Given the description of an element on the screen output the (x, y) to click on. 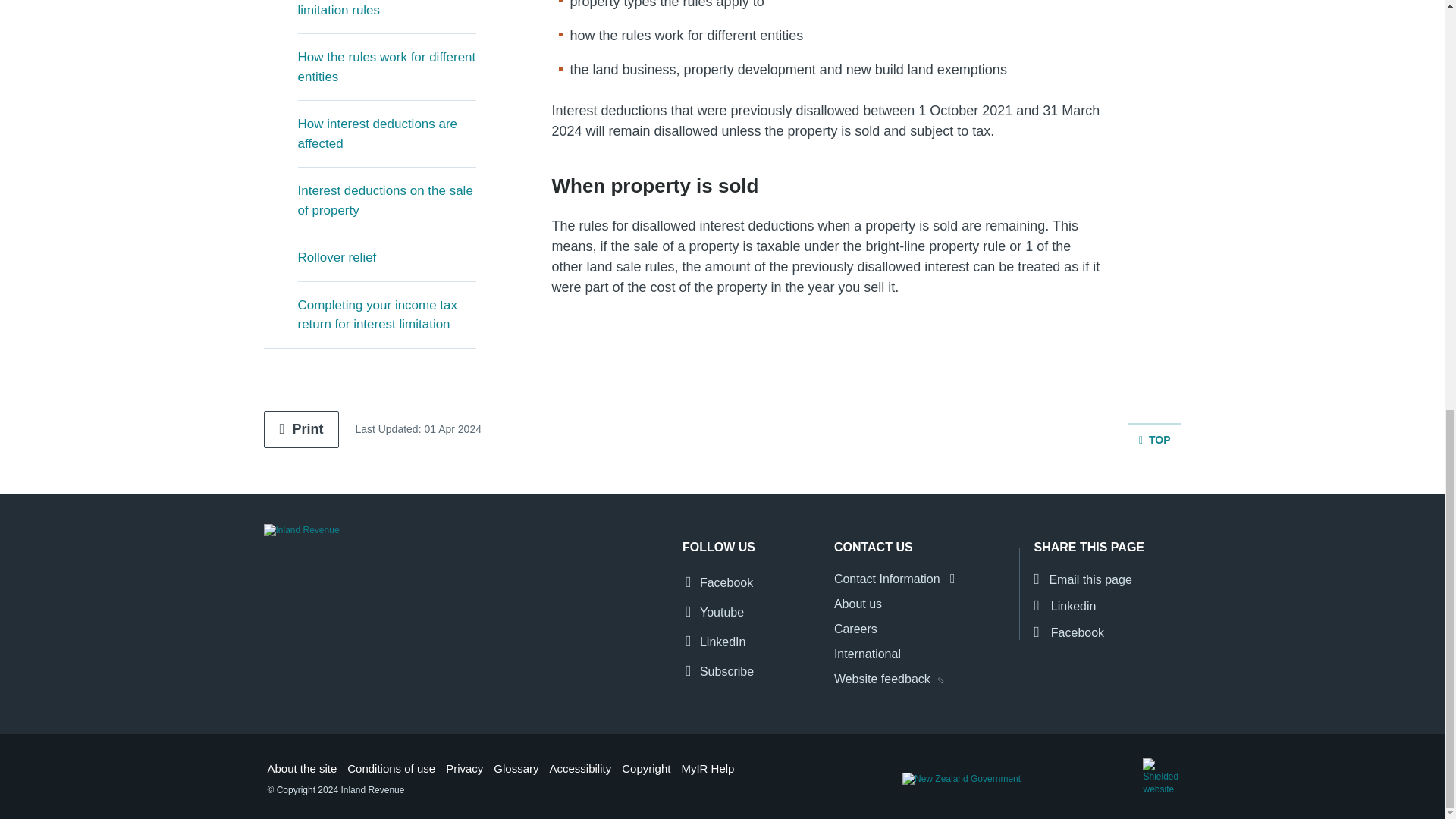
Interest deductions on the sale of property (386, 200)
Completing your income tax return for interest limitation (386, 314)
Exemptions from the interest limitation rules (386, 17)
Rollover relief (386, 257)
How the rules work for different entities (386, 67)
How interest deductions are affected (386, 133)
